Given the description of an element on the screen output the (x, y) to click on. 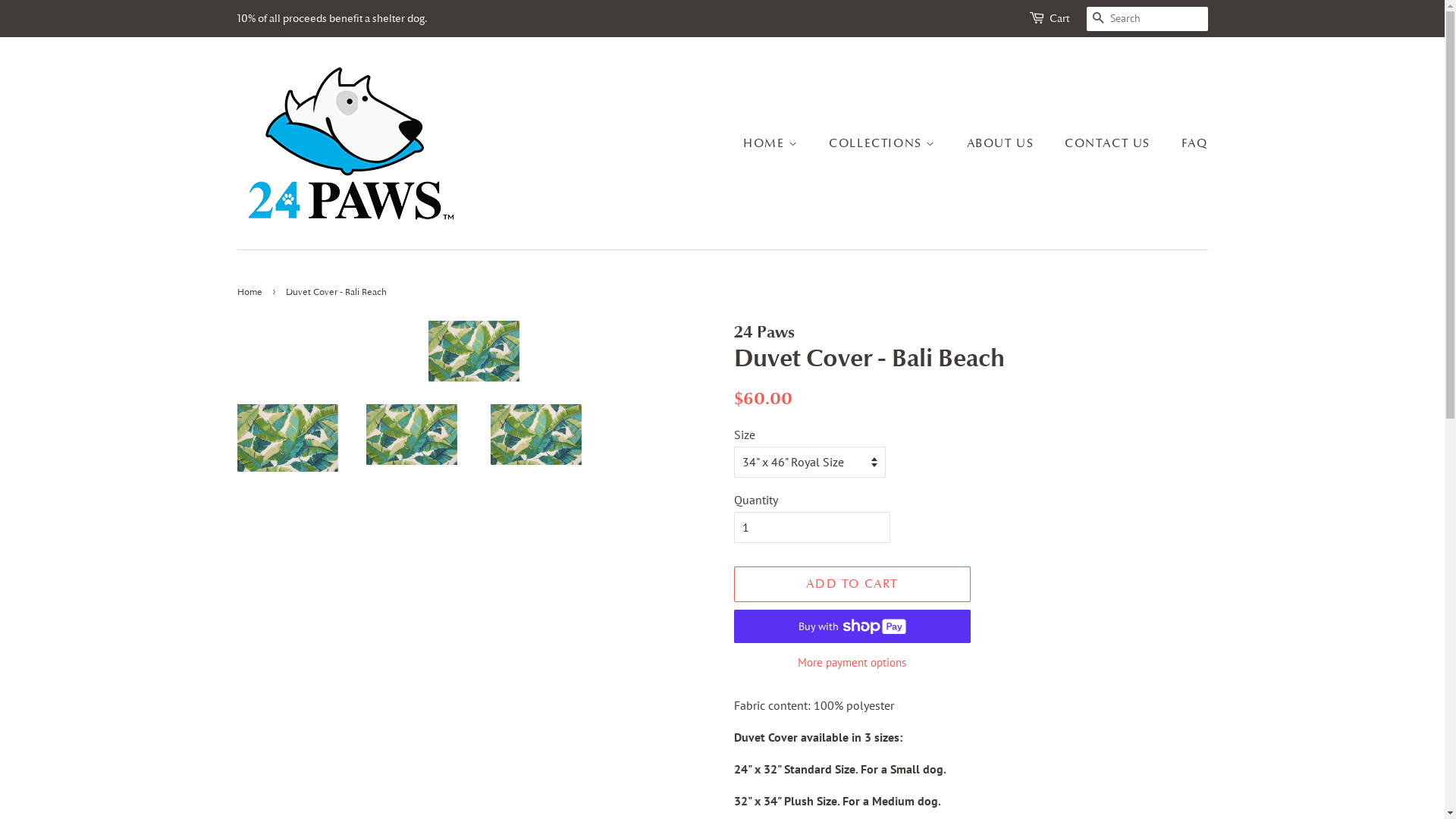
More payment options Element type: text (852, 661)
COLLECTIONS Element type: text (883, 143)
SEARCH Element type: text (1097, 18)
ABOUT US Element type: text (1002, 143)
FAQ Element type: text (1189, 143)
CONTACT US Element type: text (1109, 143)
ADD TO CART Element type: text (852, 584)
Cart Element type: text (1059, 18)
HOME Element type: text (778, 143)
10% of all proceeds benefit a shelter dog. Element type: text (331, 18)
Home Element type: text (250, 291)
